Given the description of an element on the screen output the (x, y) to click on. 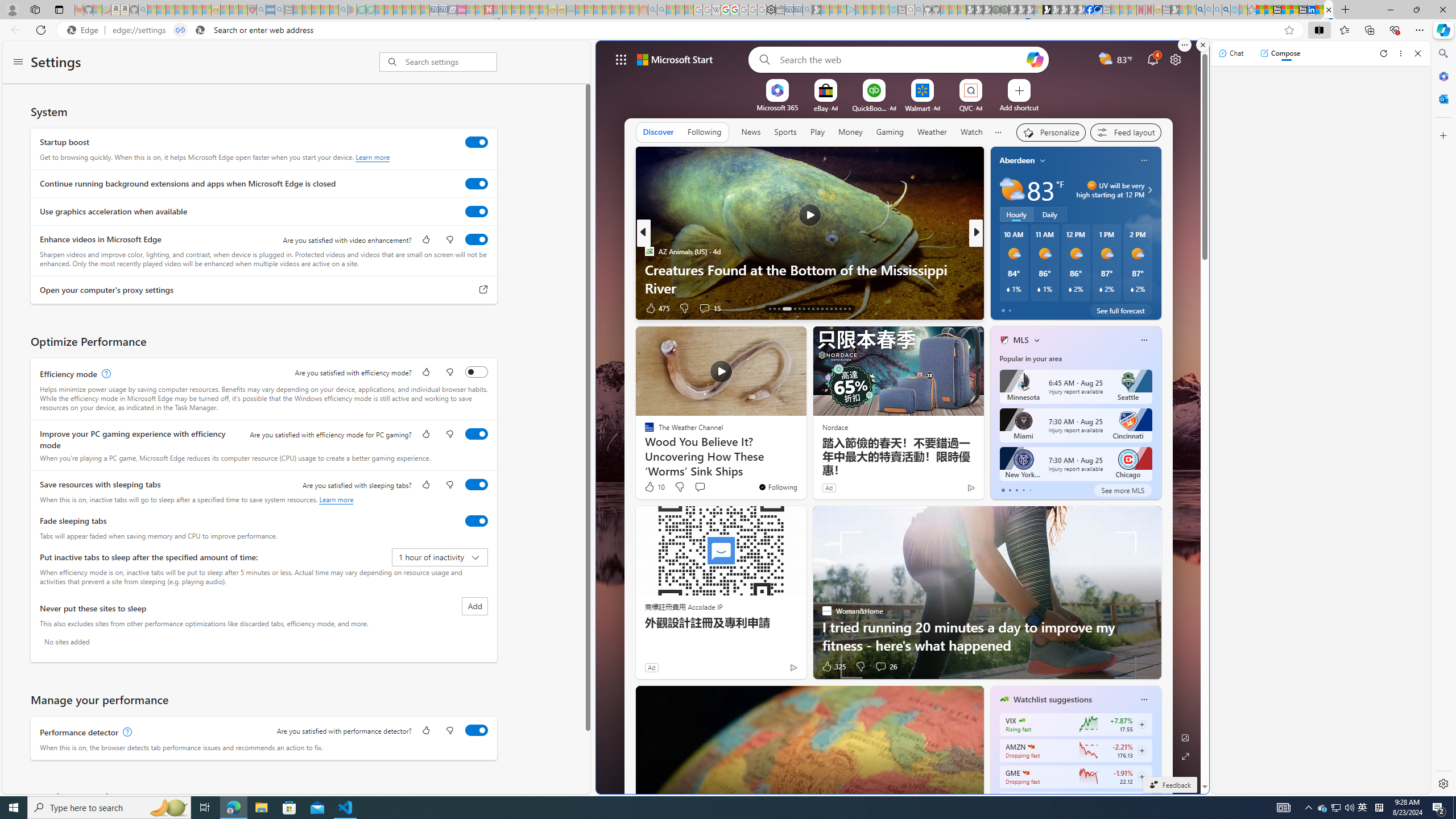
Nordace | Facebook (1089, 9)
AMAZON.COM, INC. (1030, 746)
76 Like (1005, 307)
Enhance videos in Microsoft Edge (476, 238)
EatingWell (999, 250)
39 Like (1005, 307)
